Given the description of an element on the screen output the (x, y) to click on. 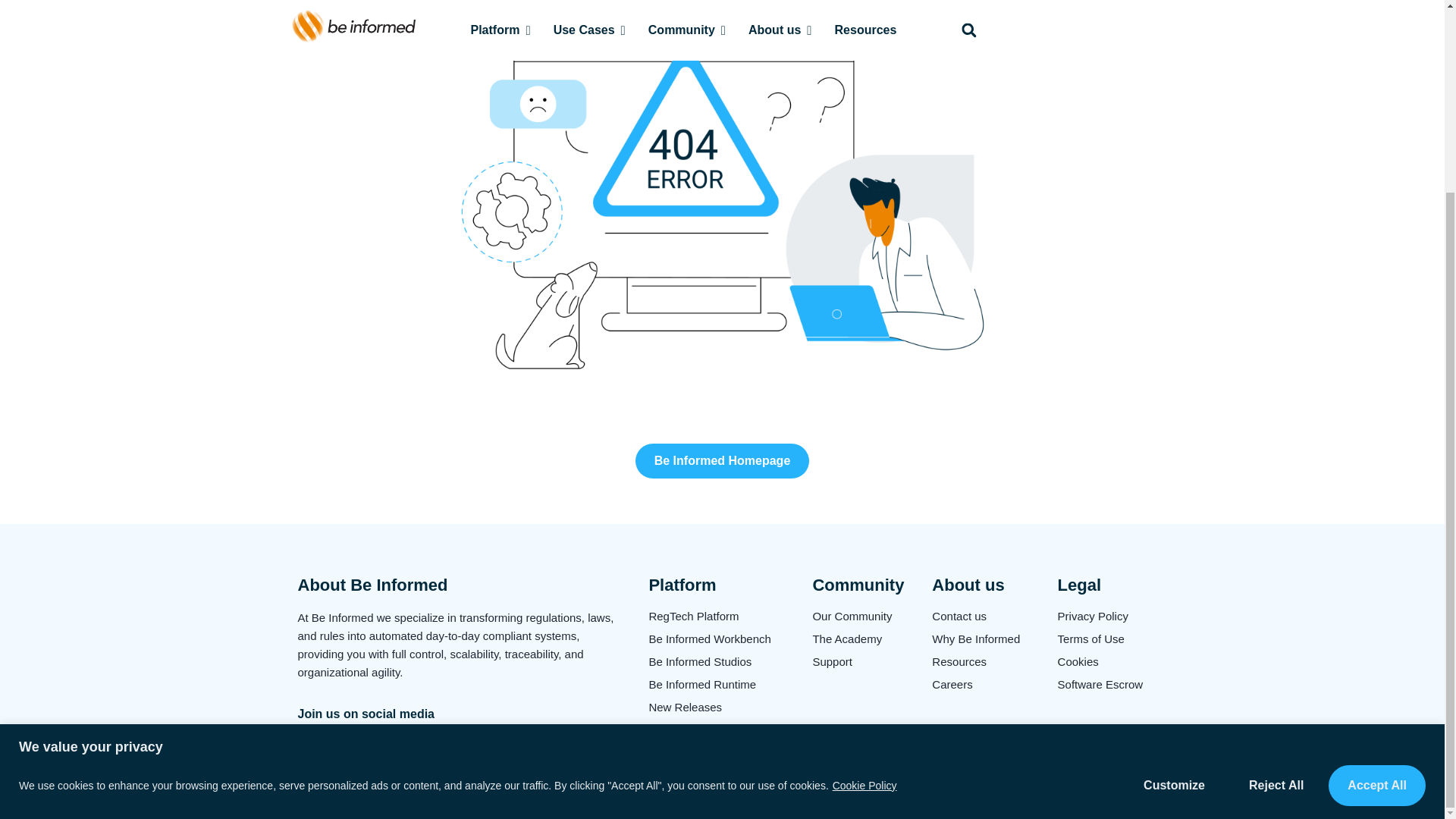
Customize (1174, 542)
Cookie Policy (864, 542)
Accept All (1376, 542)
Reject All (1276, 542)
